Given the description of an element on the screen output the (x, y) to click on. 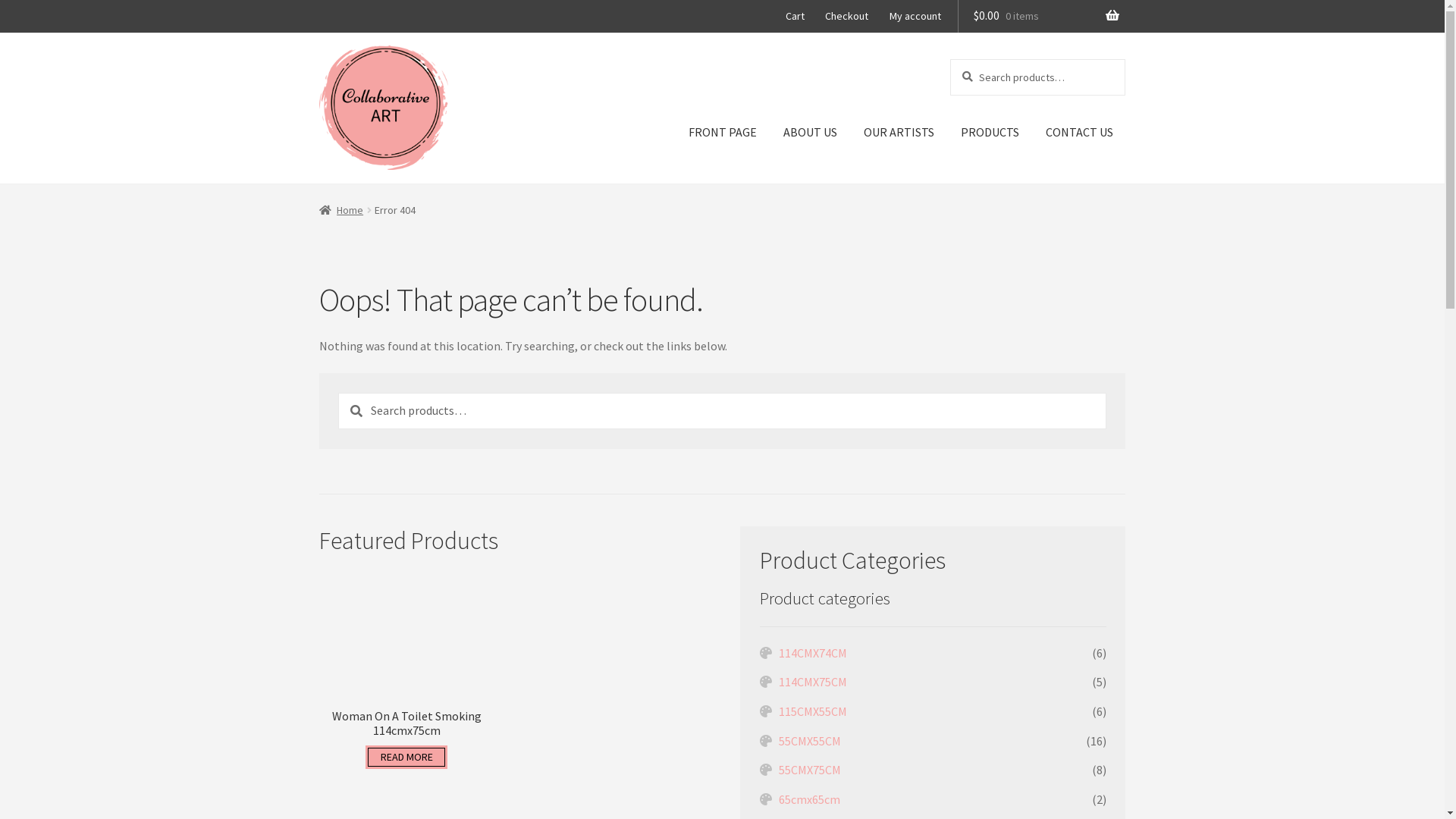
OUR ARTISTS Element type: text (898, 132)
Home Element type: text (341, 209)
55CMX75CM Element type: text (809, 769)
115CMX55CM Element type: text (812, 710)
My account Element type: text (915, 15)
$0.00 0 items Element type: text (1041, 16)
PRODUCTS Element type: text (989, 132)
55CMX55CM Element type: text (809, 740)
Search Element type: text (949, 58)
Woman On A Toilet Smoking 114cmx75cm Element type: text (406, 653)
CONTACT US Element type: text (1079, 132)
Checkout Element type: text (846, 15)
READ MORE Element type: text (406, 756)
114CMX75CM Element type: text (812, 681)
Search Element type: text (337, 392)
114CMX74CM Element type: text (812, 652)
ABOUT US Element type: text (810, 132)
Cart Element type: text (795, 15)
65cmx65cm Element type: text (809, 798)
FRONT PAGE Element type: text (722, 132)
Skip to navigation Element type: text (318, 38)
